Given the description of an element on the screen output the (x, y) to click on. 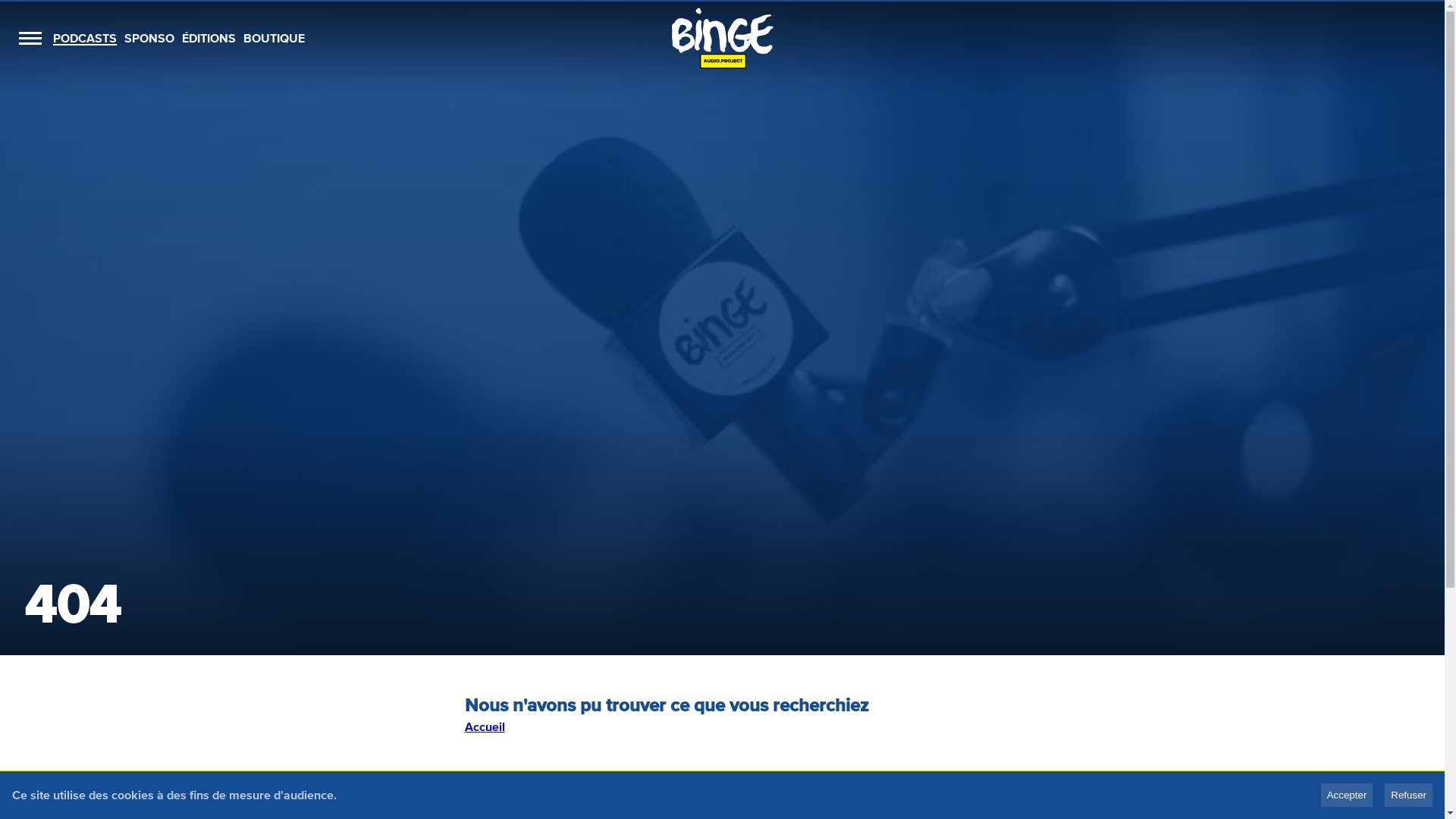
BOUTIQUE Element type: text (273, 37)
Refuser Element type: text (1408, 794)
Generator: Sketch 56.2 (81672) - https://sketch.com Element type: text (722, 37)
      Menu Element type: text (30, 37)
Accepter Element type: text (1347, 794)
Accueil Element type: text (484, 726)
PODCASTS Element type: text (84, 37)
SPONSO Element type: text (149, 37)
